Given the description of an element on the screen output the (x, y) to click on. 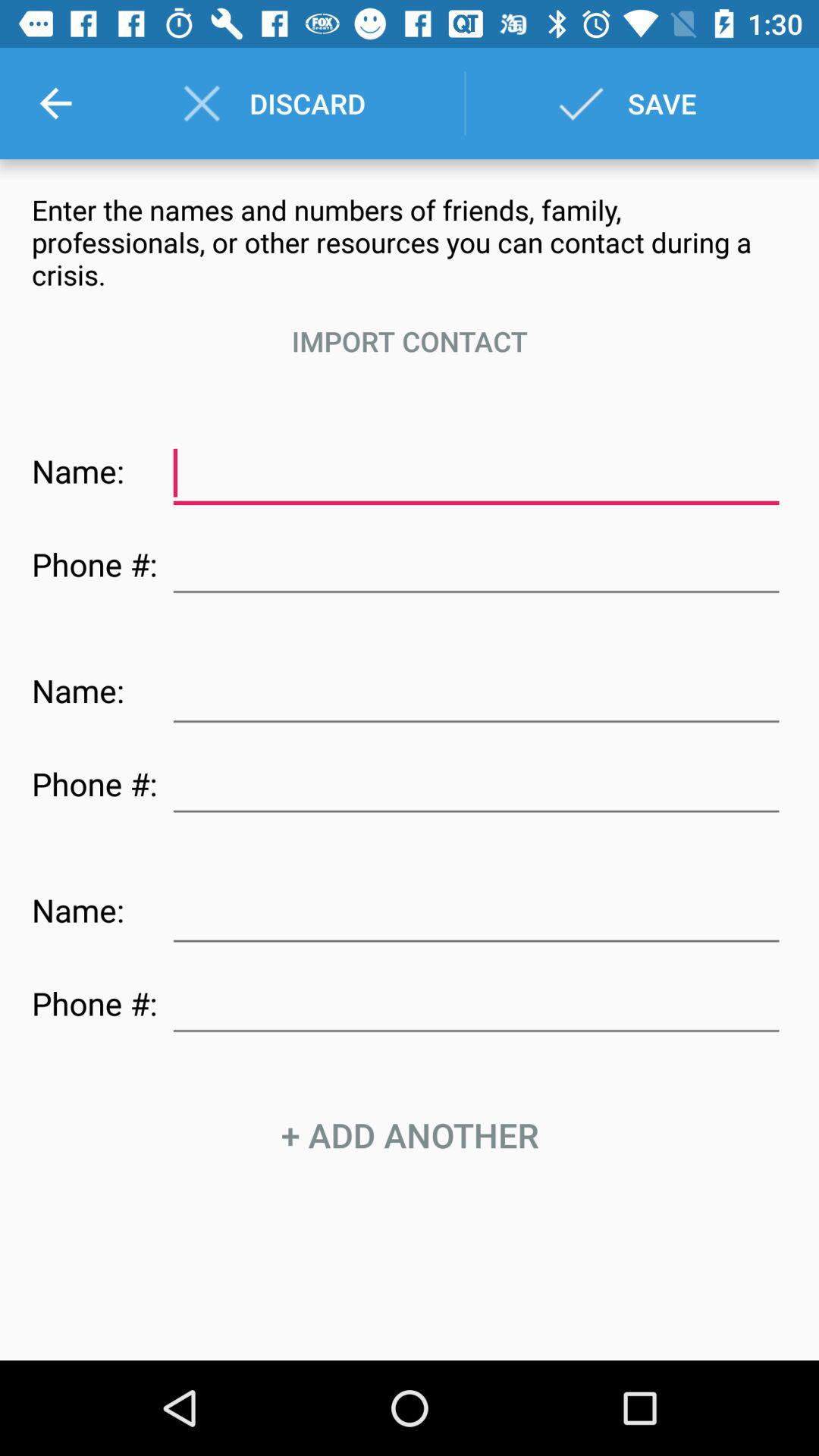
swipe until import contact icon (409, 341)
